Given the description of an element on the screen output the (x, y) to click on. 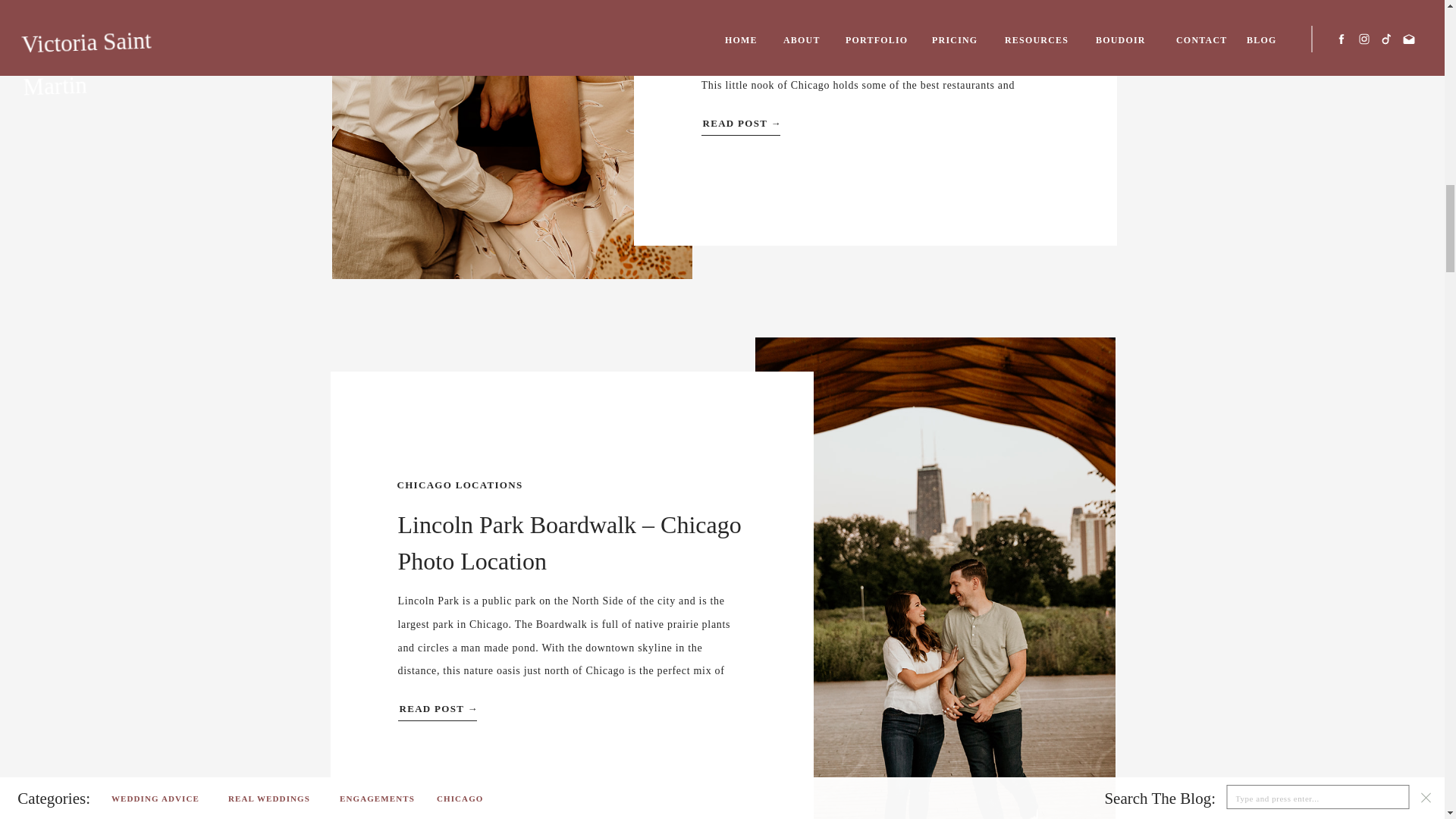
Obscure Chicago Photo Locations (512, 139)
CHICAGO LOCATIONS (459, 484)
Obscure Chicago Photo Locations (826, 119)
